Given the description of an element on the screen output the (x, y) to click on. 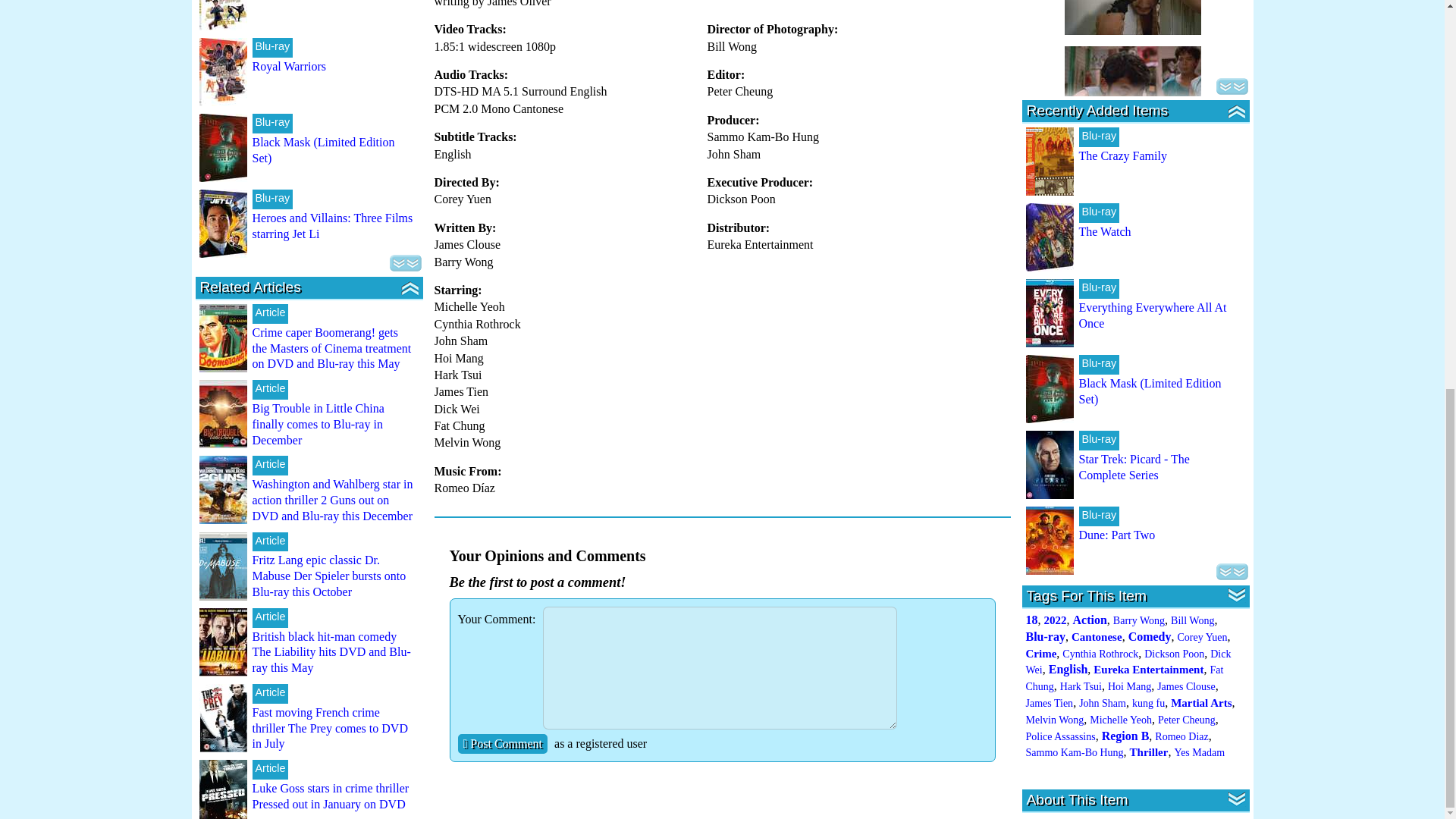
Royal Warriors (288, 65)
Next (406, 262)
Heroes and Villains: Three Films starring Jet Li (331, 225)
